Given the description of an element on the screen output the (x, y) to click on. 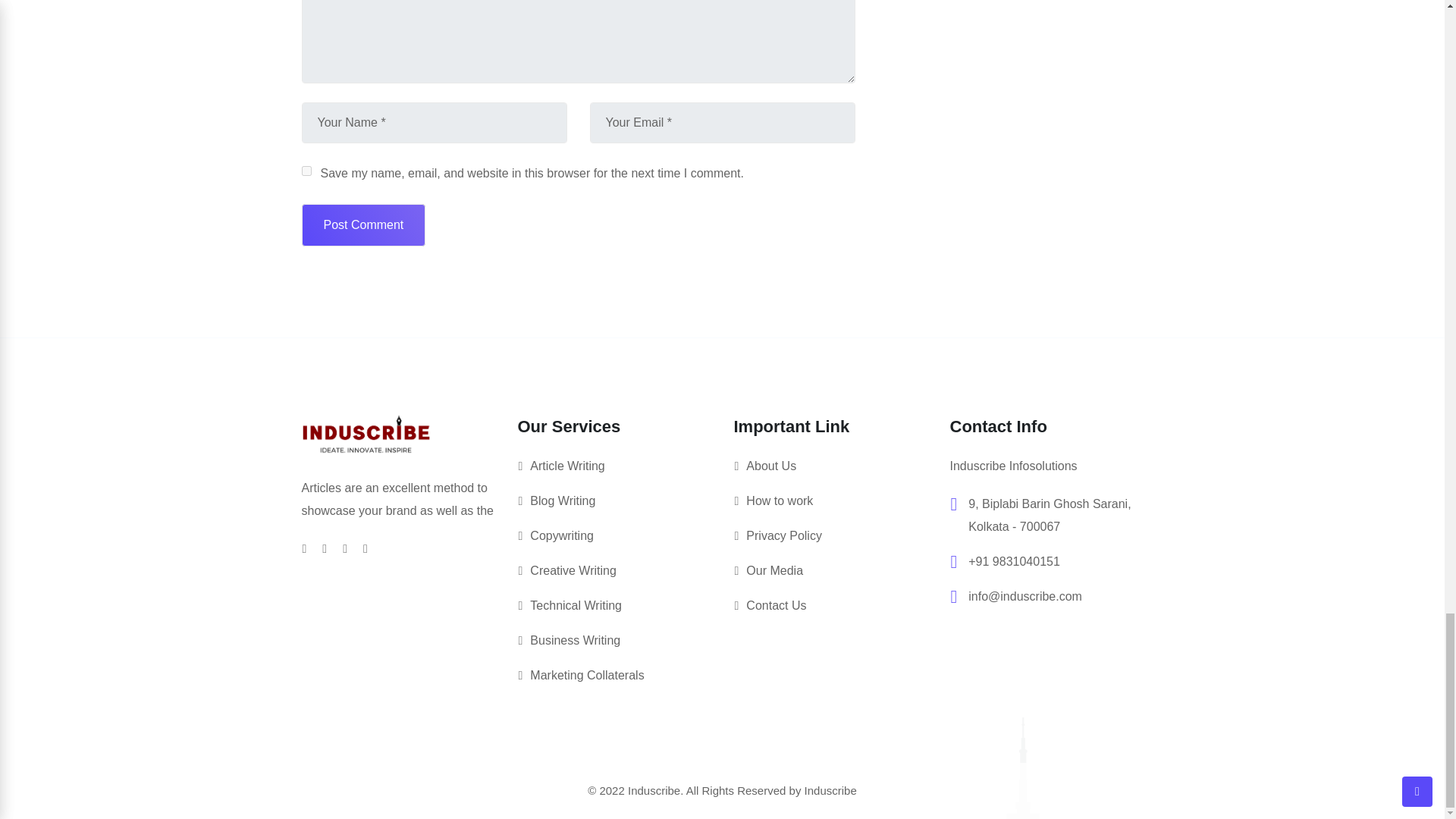
yes (306, 171)
Post Comment (363, 224)
